Given the description of an element on the screen output the (x, y) to click on. 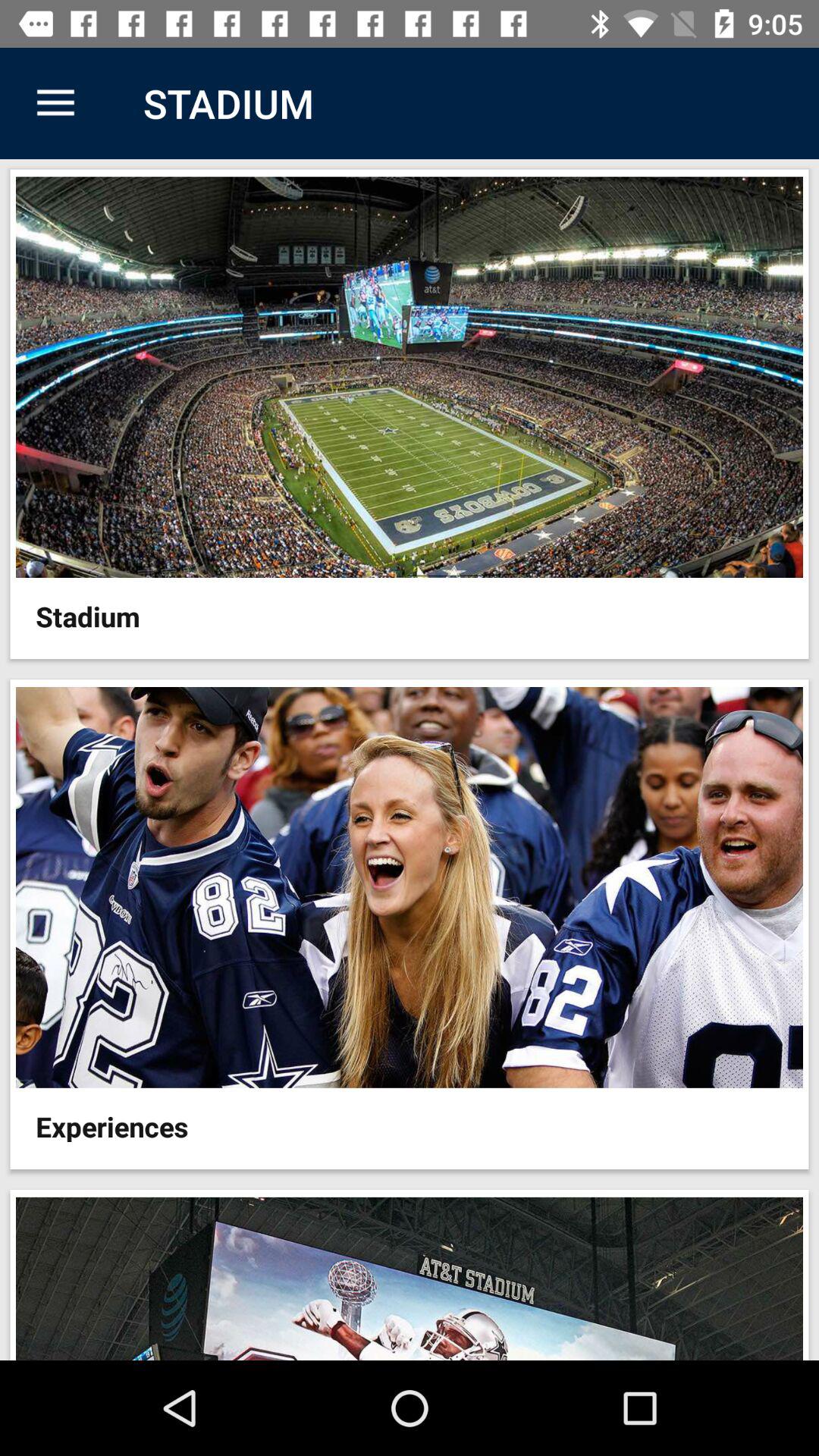
tap icon next to the stadium icon (55, 103)
